Given the description of an element on the screen output the (x, y) to click on. 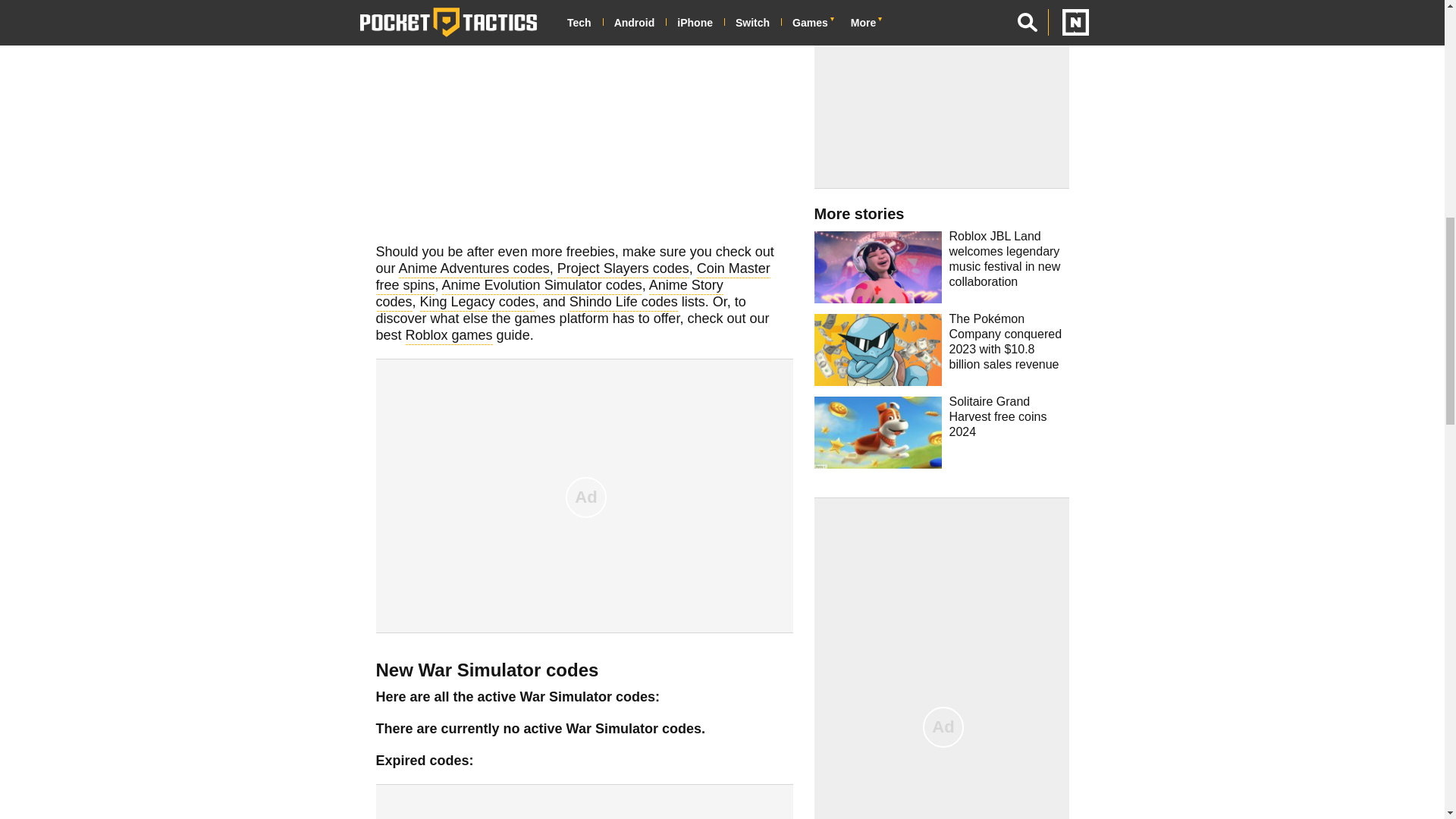
Anime Adventures codes (474, 270)
King Legacy codes (477, 303)
Project Slayers codes (622, 270)
Roblox games (449, 336)
Shindo Life codes (623, 303)
Anime Evolution Simulator codes (542, 286)
Anime Story codes (549, 294)
Coin Master free spins (572, 278)
